Given the description of an element on the screen output the (x, y) to click on. 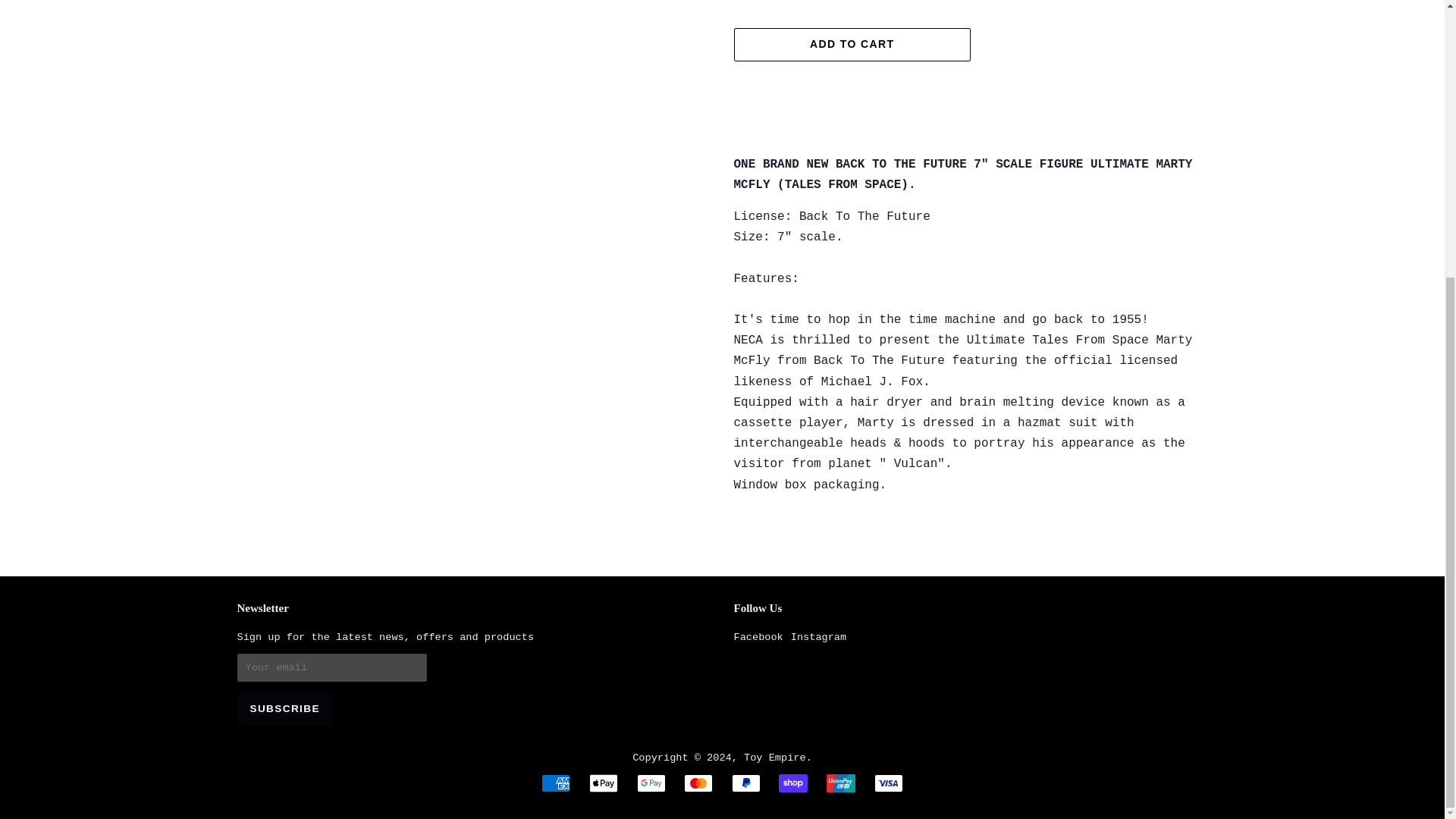
PayPal (746, 782)
Apple Pay (603, 782)
Mastercard (698, 782)
Toy Empire on Facebook (758, 636)
Union Pay (841, 782)
Google Pay (651, 782)
Shop Pay (793, 782)
Visa (888, 782)
Subscribe (283, 708)
Toy Empire on Instagram (817, 636)
American Express (555, 782)
